Given the description of an element on the screen output the (x, y) to click on. 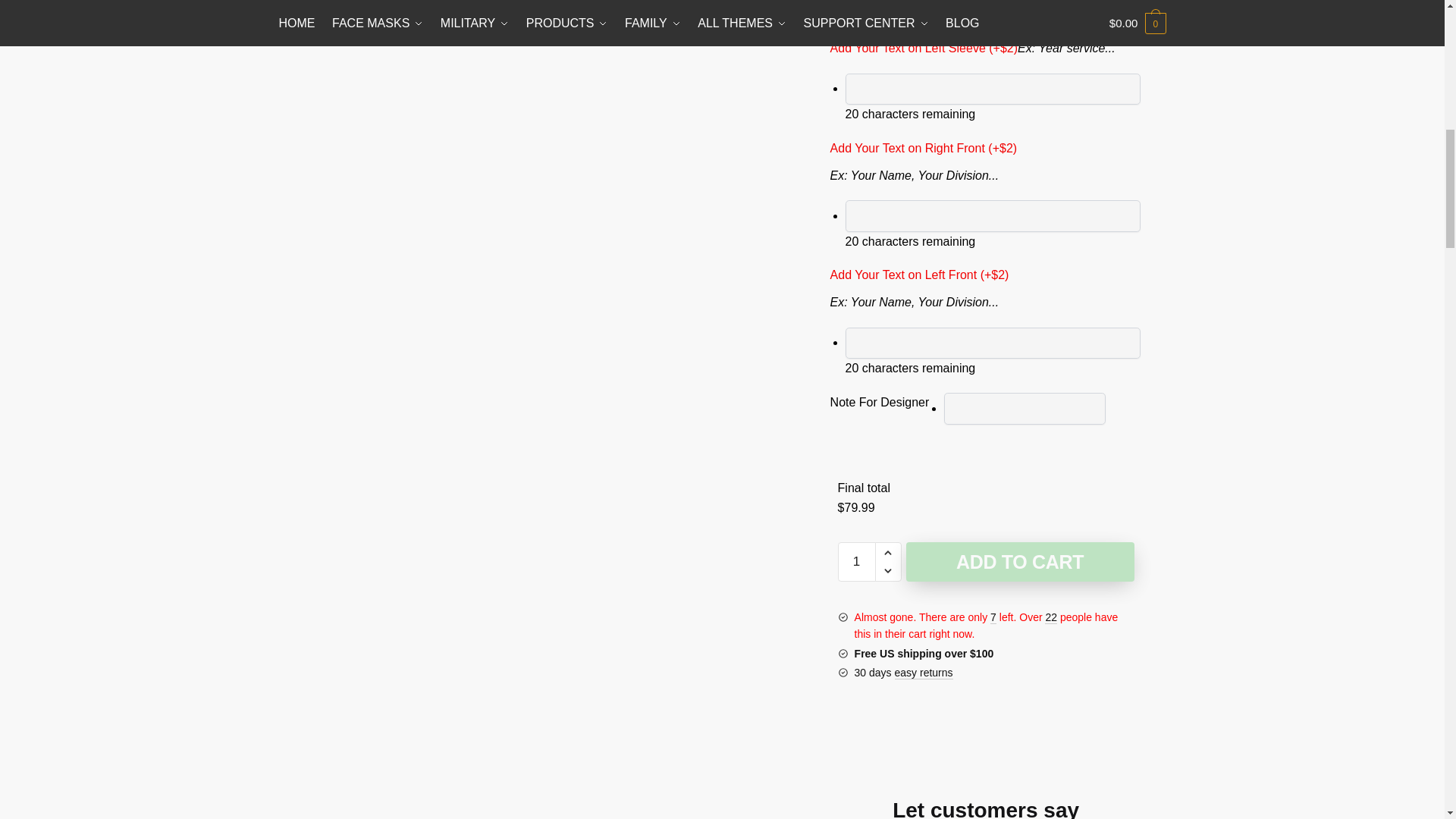
1 (857, 561)
